Given the description of an element on the screen output the (x, y) to click on. 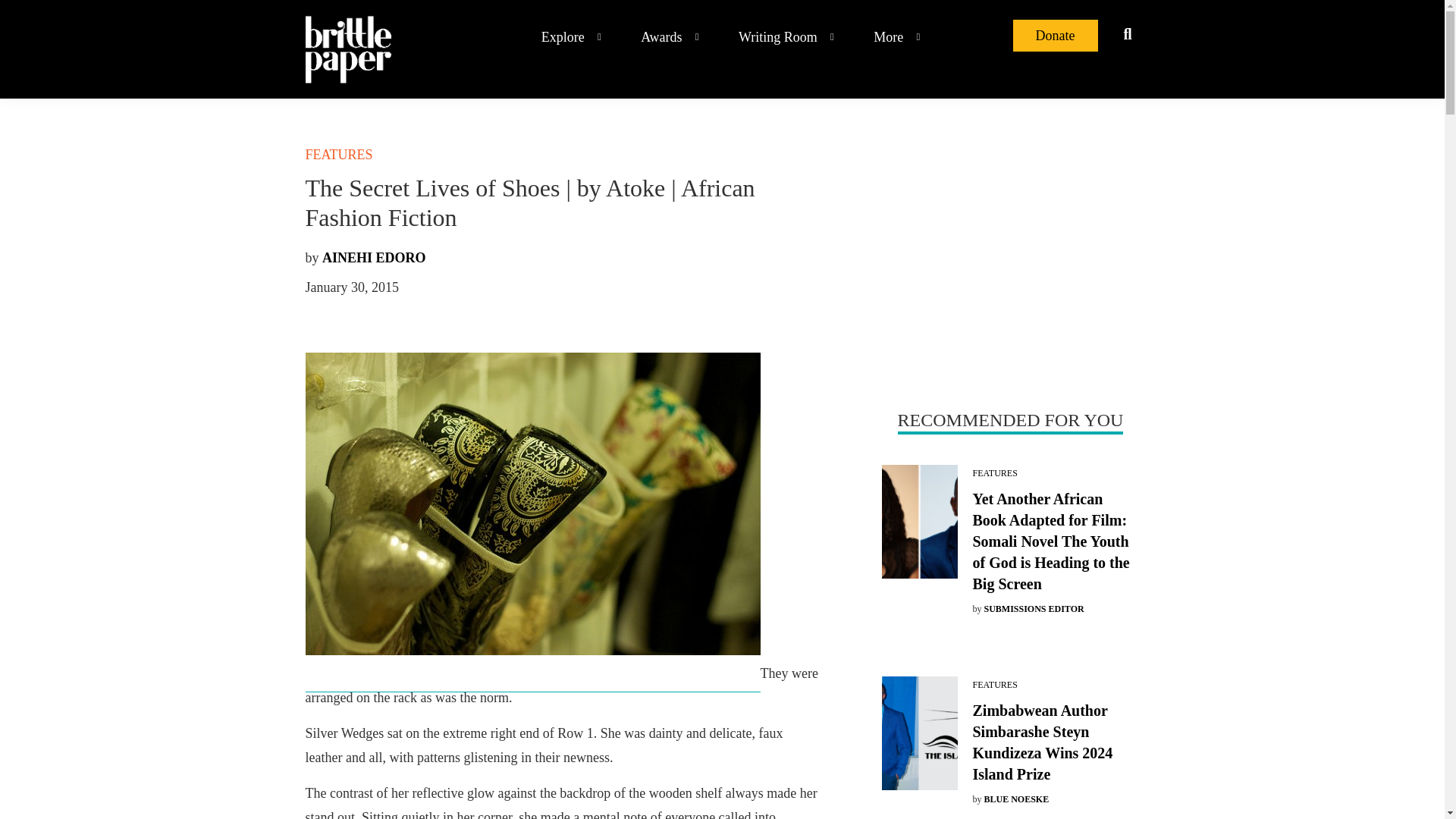
Advertisement (1009, 250)
